Given the description of an element on the screen output the (x, y) to click on. 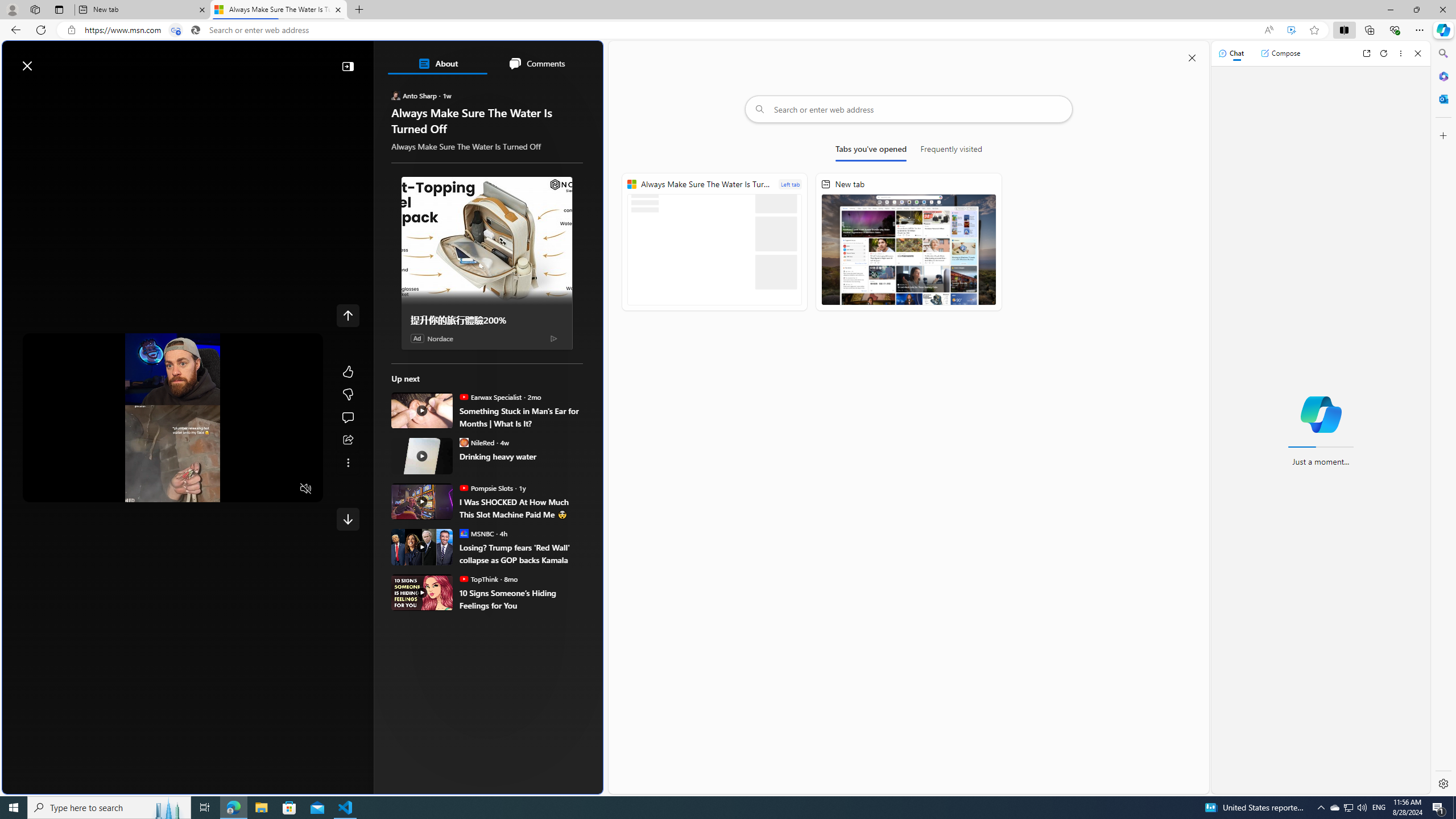
Drinking heavy water (421, 456)
Close split screen (1192, 57)
NileRed NileRed (477, 442)
More like thisFewer like thisStart the conversation (347, 394)
Settings (1442, 783)
Personalize (529, 92)
Pause (39, 488)
